Given the description of an element on the screen output the (x, y) to click on. 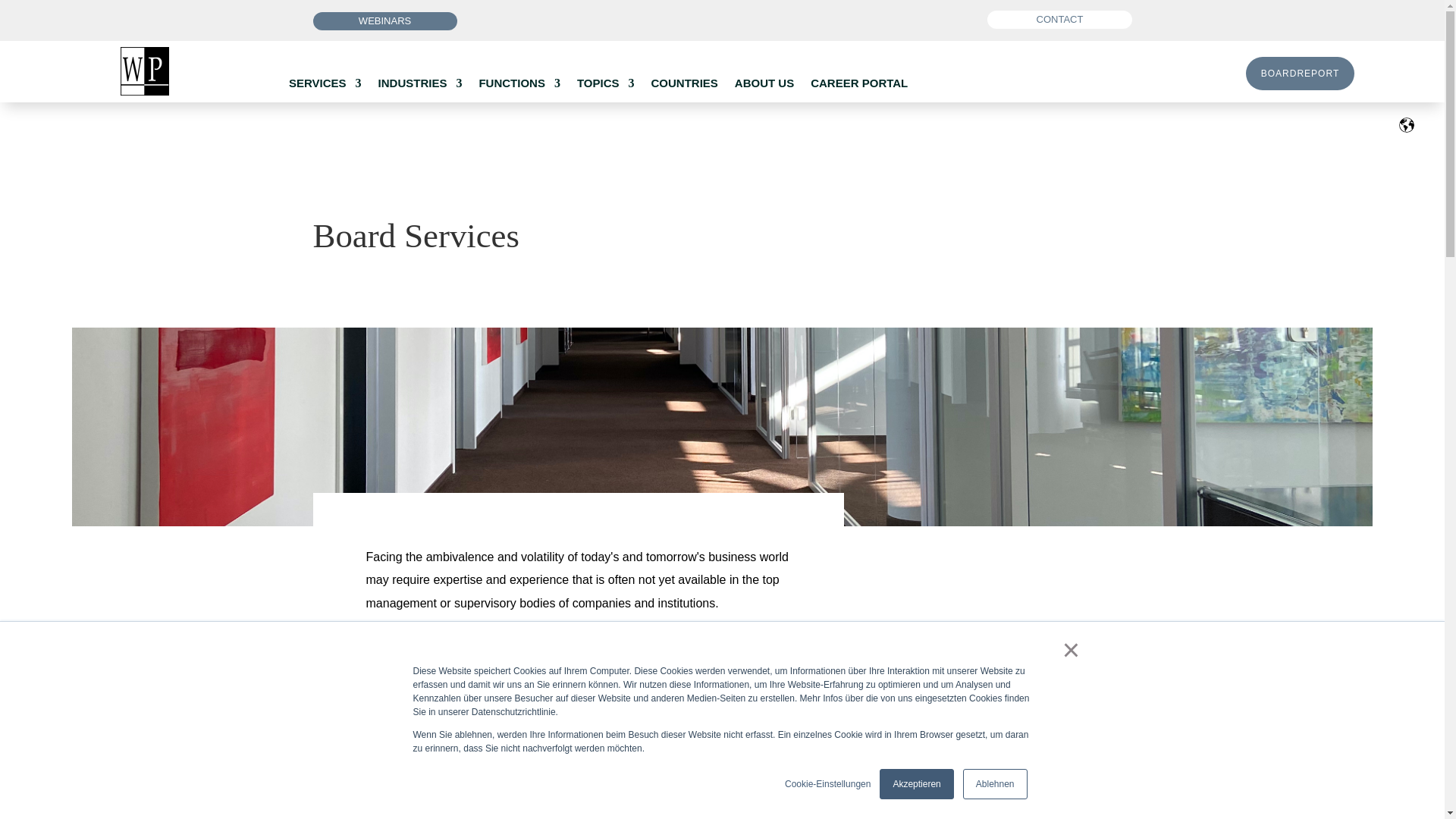
Akzeptieren (916, 784)
Contact (1059, 19)
CONTACT (1059, 19)
WEBINARS (385, 21)
Cookie-Einstellungen (827, 784)
WP Human (143, 70)
SERVICES (324, 86)
Boardreport (1300, 73)
FUNCTIONS (519, 86)
Ablehnen (994, 784)
INDUSTRIES (420, 86)
